Given the description of an element on the screen output the (x, y) to click on. 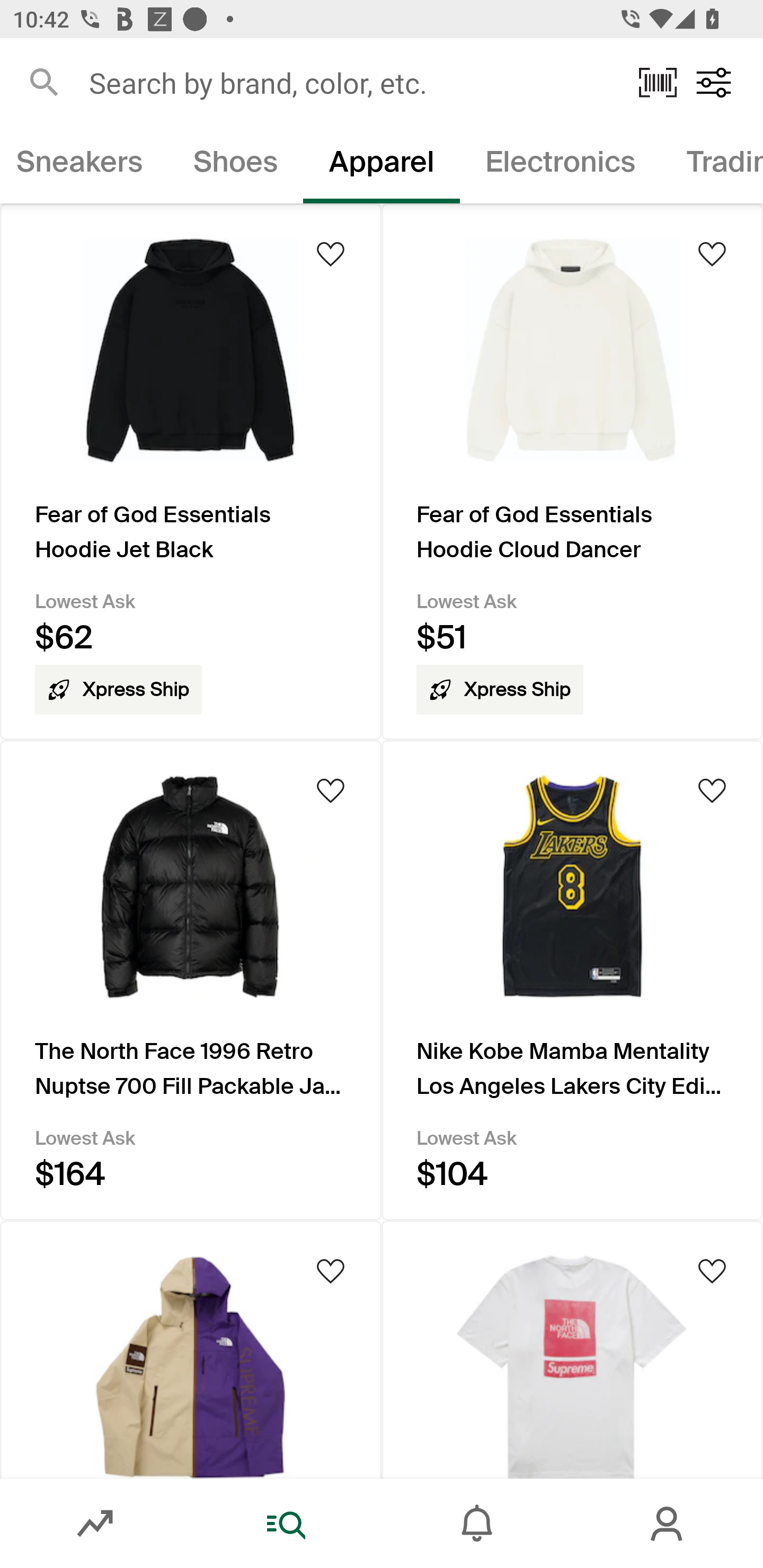
Search by brand, color, etc. (351, 82)
Sneakers (83, 165)
Shoes (234, 165)
Electronics (560, 165)
Product Image (190, 1348)
Product Image (572, 1348)
Market (95, 1523)
Inbox (476, 1523)
Account (667, 1523)
